Given the description of an element on the screen output the (x, y) to click on. 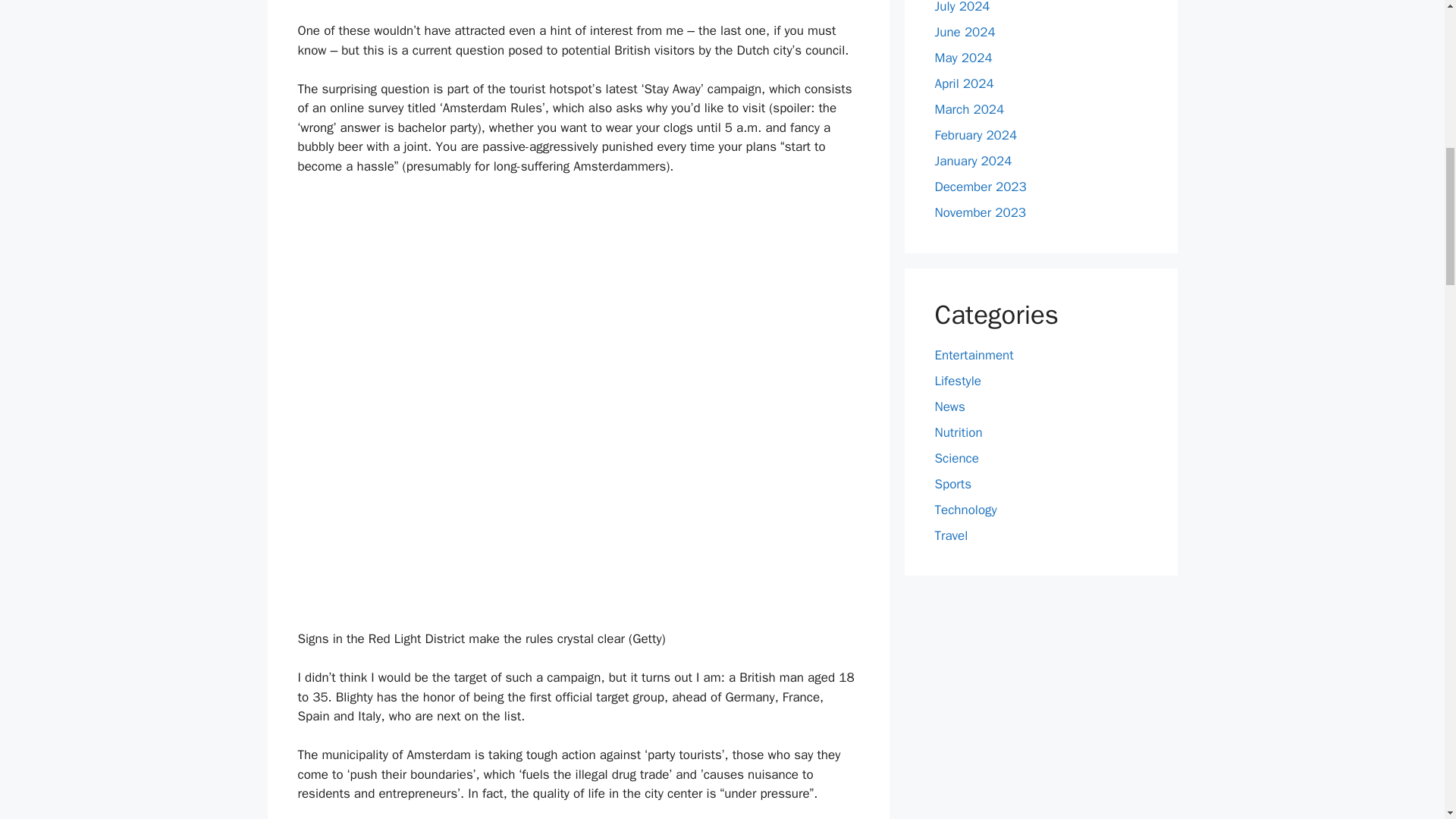
June 2024 (964, 32)
March 2024 (969, 109)
April 2024 (963, 83)
July 2024 (962, 7)
May 2024 (962, 57)
